Given the description of an element on the screen output the (x, y) to click on. 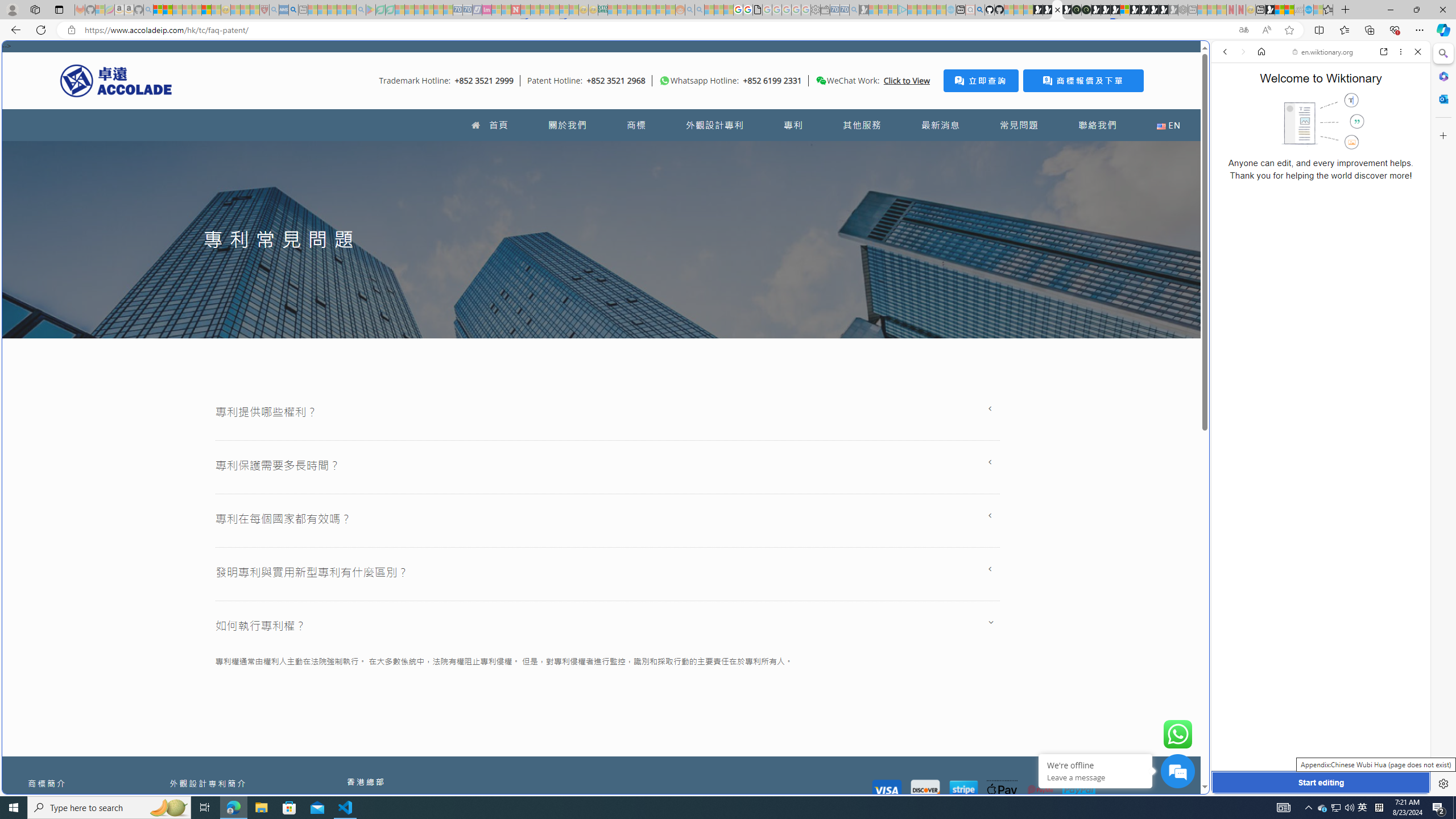
en.wiktionary.org (1323, 51)
